Given the description of an element on the screen output the (x, y) to click on. 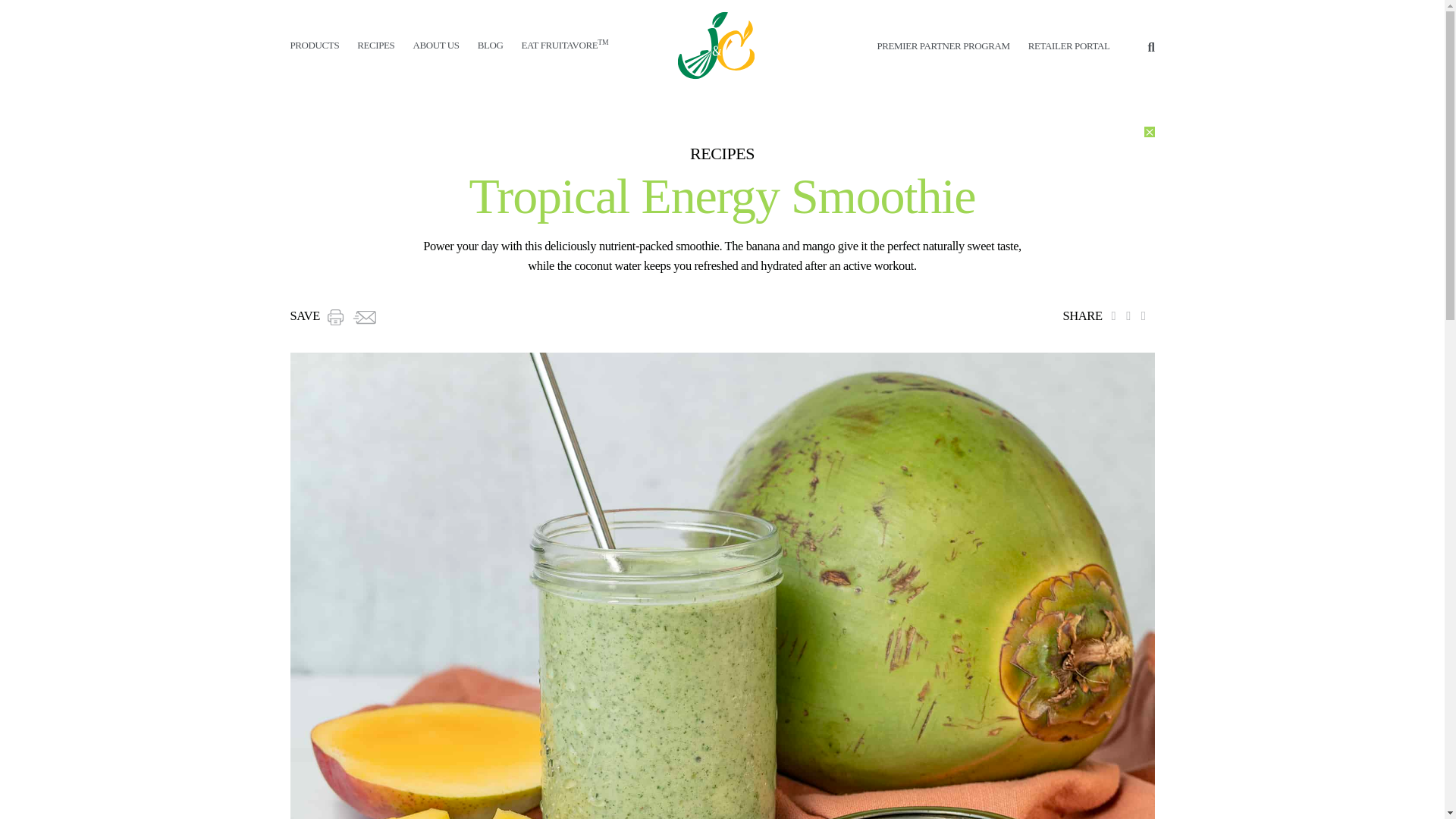
ABOUT US (435, 44)
EAT FRUITAVORETM (564, 44)
BLOG (490, 44)
PRODUCTS (314, 44)
RETAILER PORTAL (1068, 45)
PREMIER PARTNER PROGRAM (942, 45)
RECIPES (375, 44)
